Given the description of an element on the screen output the (x, y) to click on. 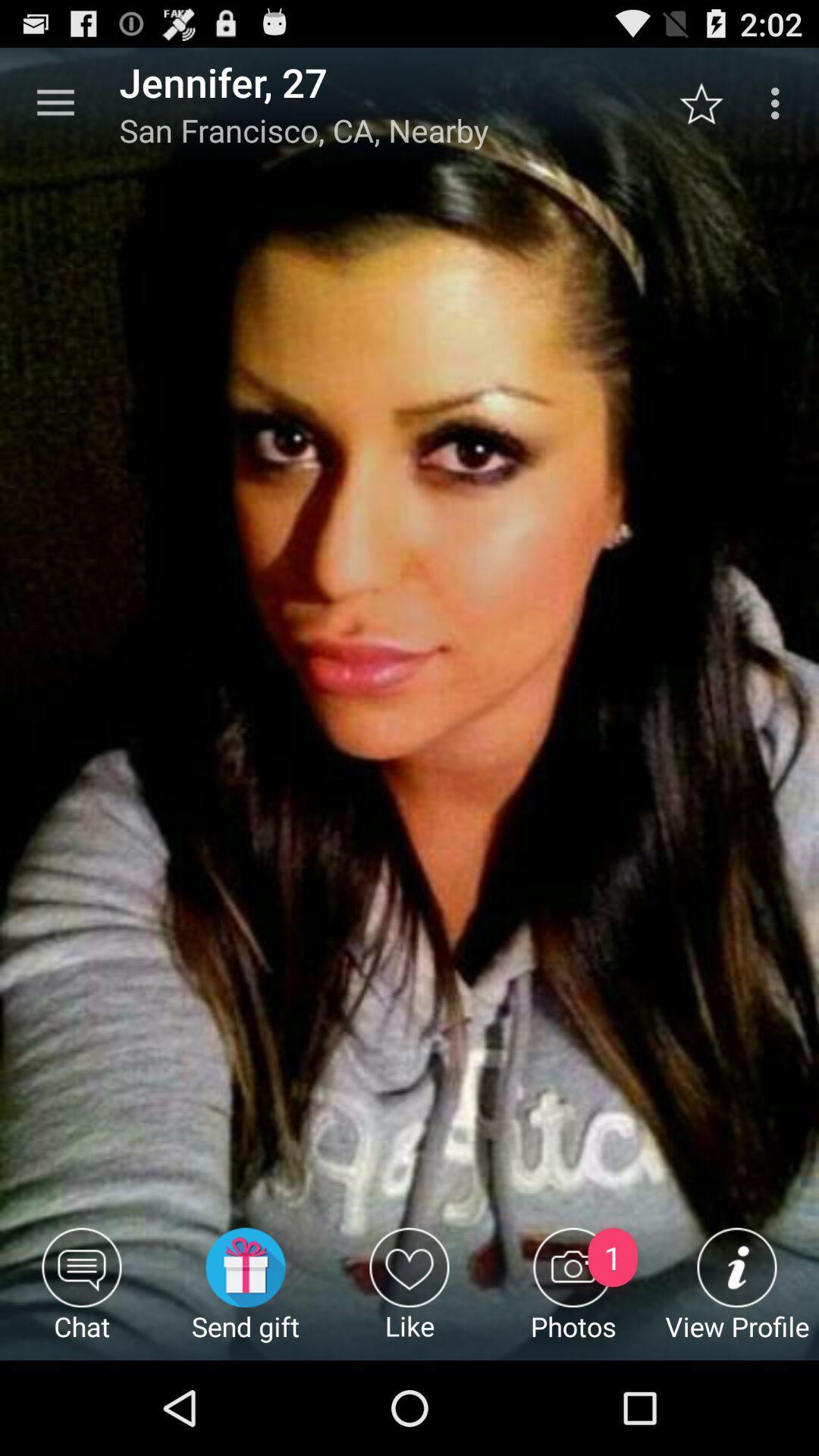
select the app below san francisco ca icon (245, 1293)
